Given the description of an element on the screen output the (x, y) to click on. 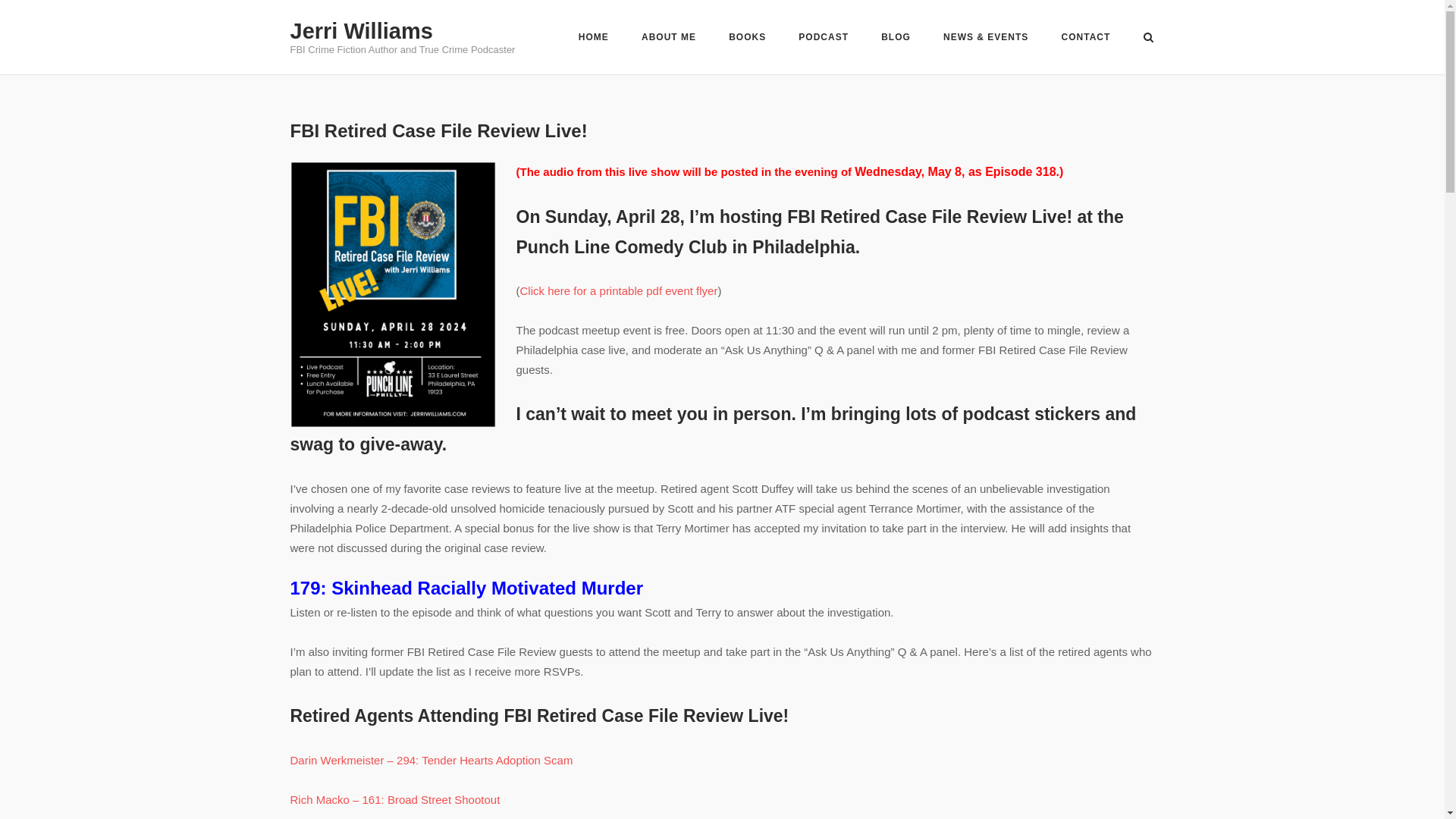
BOOKS (747, 38)
CONTACT (1085, 39)
Jerri Williams (360, 30)
179: Skinhead Racially Motivated Murder (465, 588)
ABOUT ME (668, 39)
BLOG (895, 39)
PODCAST (822, 39)
HOME (593, 39)
Click here for a printable pdf event flyer (618, 290)
